Given the description of an element on the screen output the (x, y) to click on. 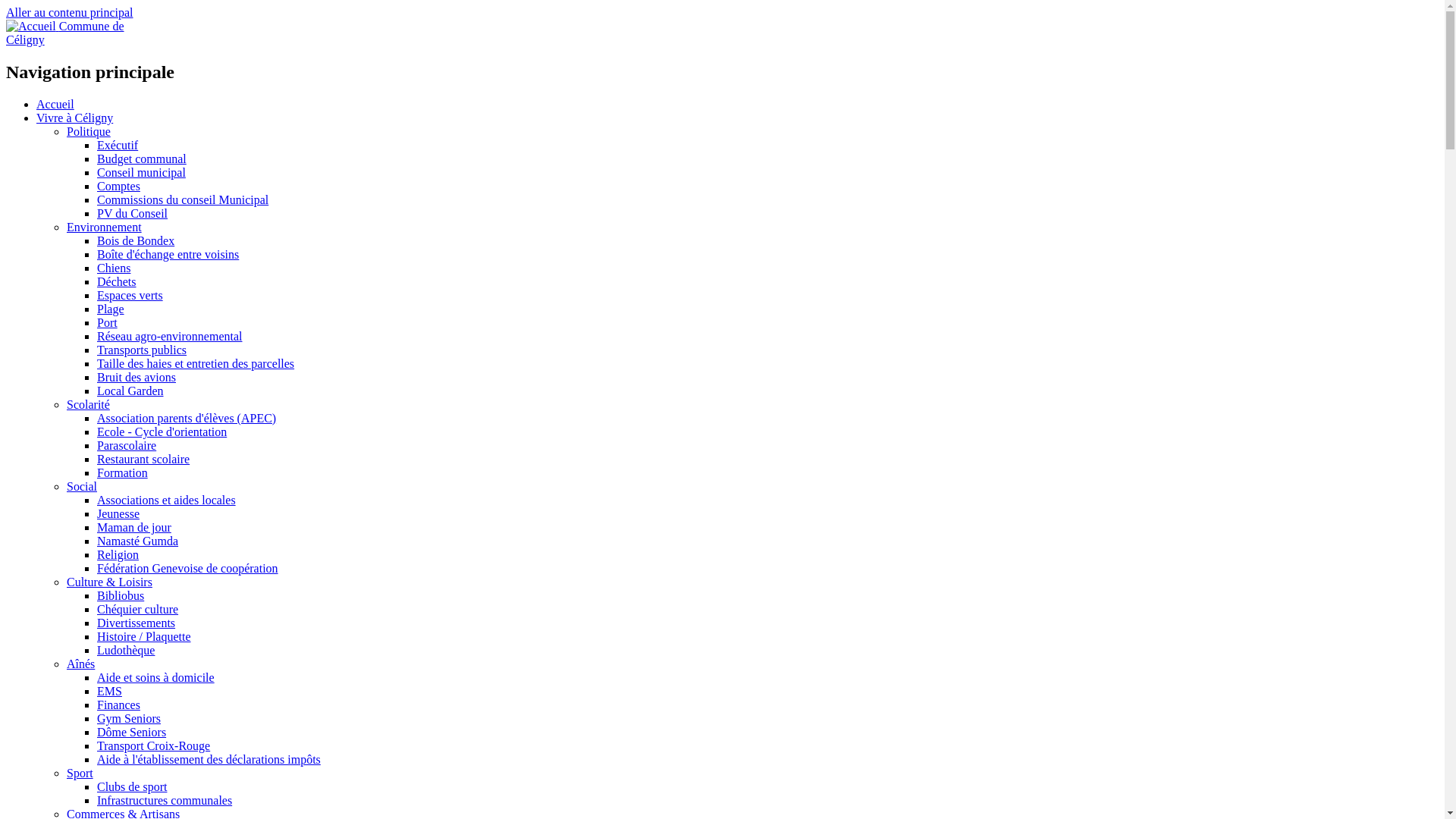
Parascolaire Element type: text (126, 445)
Comptes Element type: text (118, 185)
Budget communal Element type: text (141, 158)
Bois de Bondex Element type: text (135, 240)
Culture & Loisirs Element type: text (109, 581)
Associations et aides locales Element type: text (166, 499)
EMS Element type: text (109, 690)
Jeunesse Element type: text (118, 513)
Gym Seniors Element type: text (128, 718)
Formation Element type: text (122, 472)
Clubs de sport Element type: text (131, 786)
Histoire / Plaquette Element type: text (144, 636)
Sport Element type: text (79, 772)
Restaurant scolaire Element type: text (143, 458)
Port Element type: text (107, 322)
Transport Croix-Rouge Element type: text (153, 745)
Transports publics Element type: text (141, 349)
Maman de jour Element type: text (134, 526)
Accueil Element type: text (55, 103)
Religion Element type: text (117, 554)
Espaces verts Element type: text (130, 294)
PV du Conseil Element type: text (132, 213)
Conseil municipal Element type: text (141, 172)
Finances Element type: text (118, 704)
Ecole - Cycle d'orientation Element type: text (161, 431)
Politique Element type: text (88, 131)
Environnement Element type: text (103, 226)
Social Element type: text (81, 486)
Bibliobus Element type: text (120, 595)
Bruit des avions Element type: text (136, 376)
Accueil Element type: hover (32, 25)
Infrastructures communales Element type: text (164, 799)
Plage Element type: text (110, 308)
Taille des haies et entretien des parcelles Element type: text (195, 363)
Divertissements Element type: text (136, 622)
Local Garden Element type: text (130, 390)
Commissions du conseil Municipal Element type: text (182, 199)
Aller au contenu principal Element type: text (69, 12)
Chiens Element type: text (113, 267)
